Given the description of an element on the screen output the (x, y) to click on. 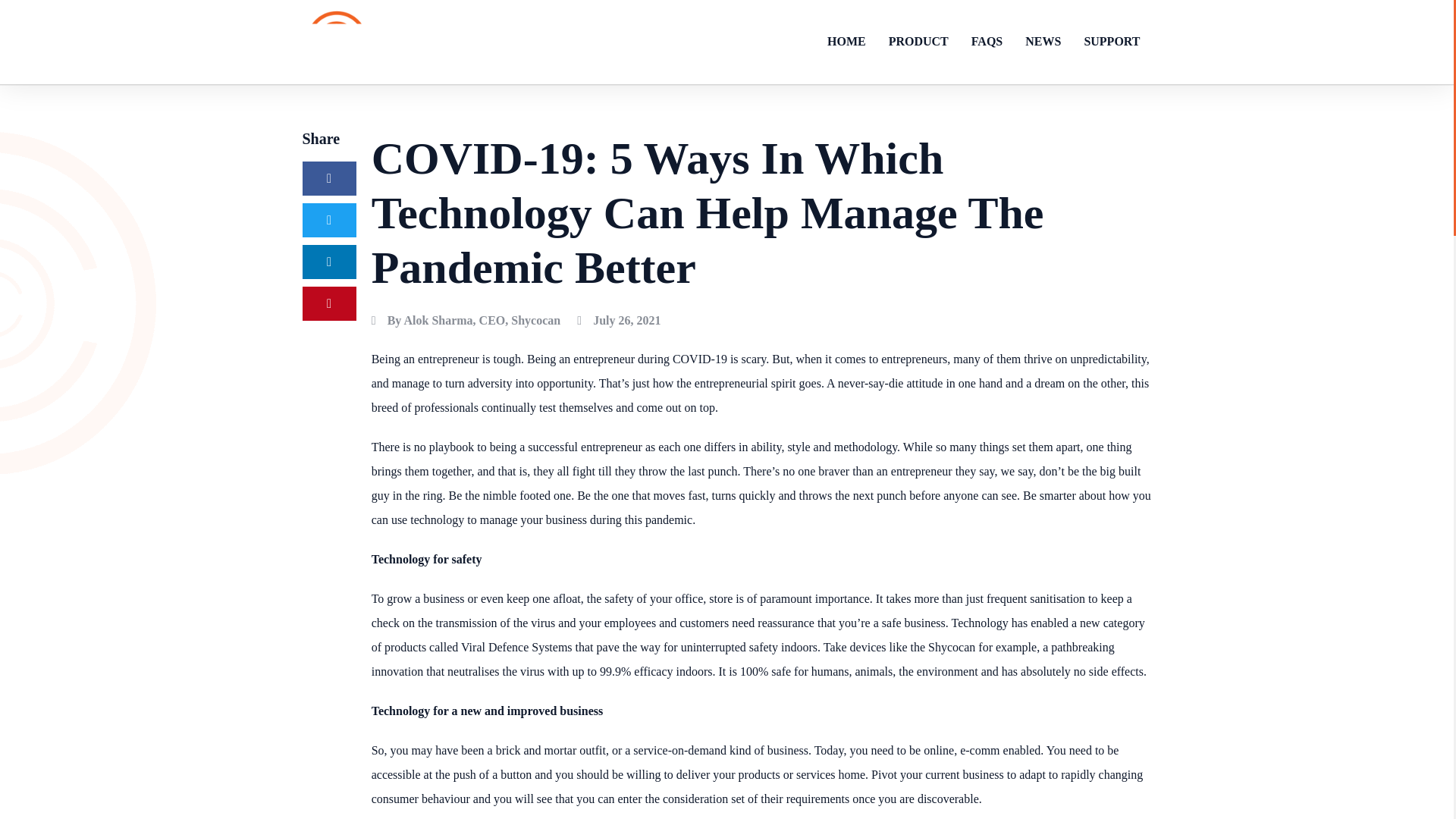
HOME (846, 41)
NEWS (1042, 41)
FAQS (986, 41)
PRODUCT (918, 41)
SUPPORT (1111, 41)
